Given the description of an element on the screen output the (x, y) to click on. 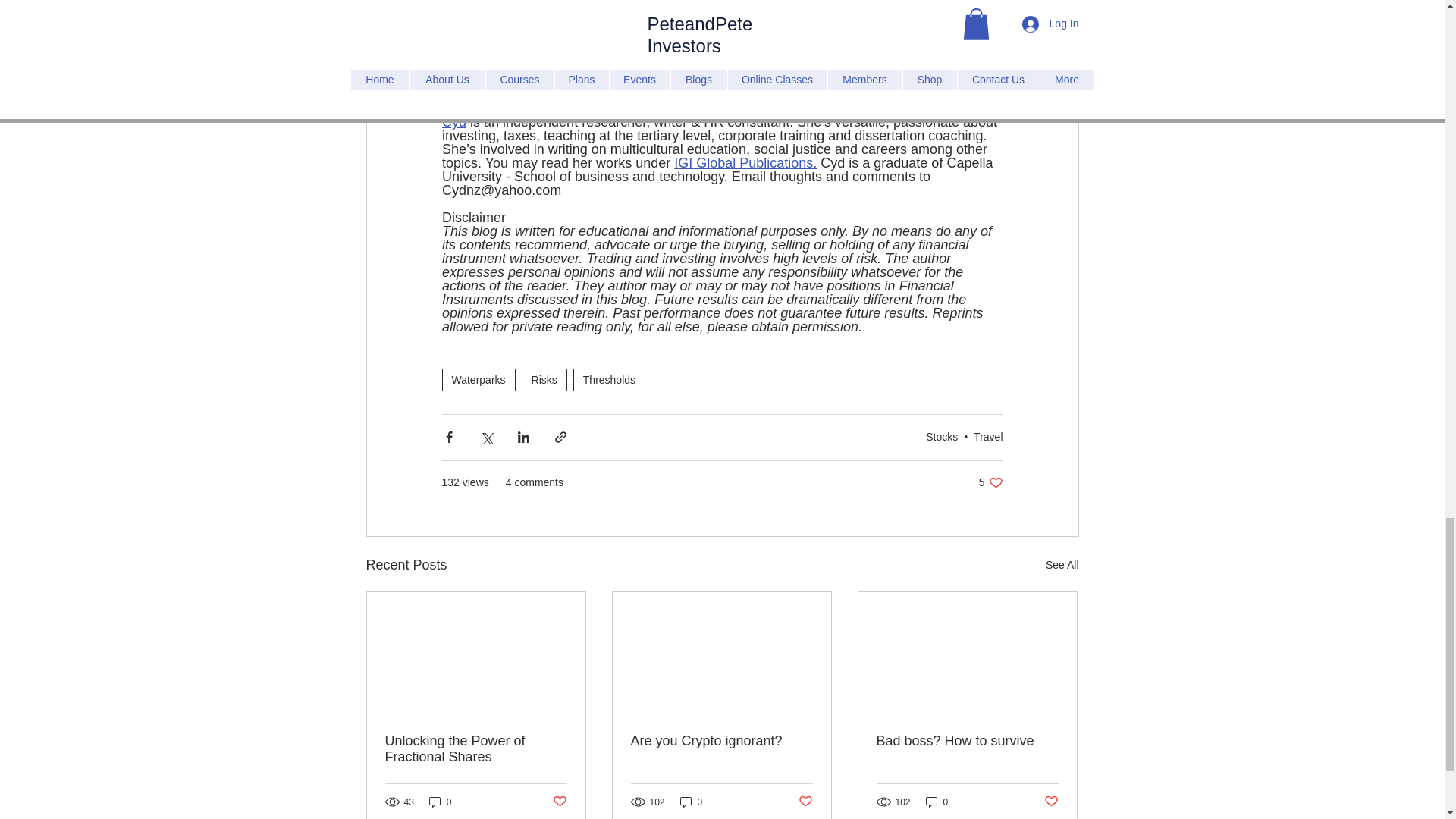
IGI Global Publications. (745, 162)
Cyd (453, 121)
trading (673, 29)
investing classes (789, 29)
